Given the description of an element on the screen output the (x, y) to click on. 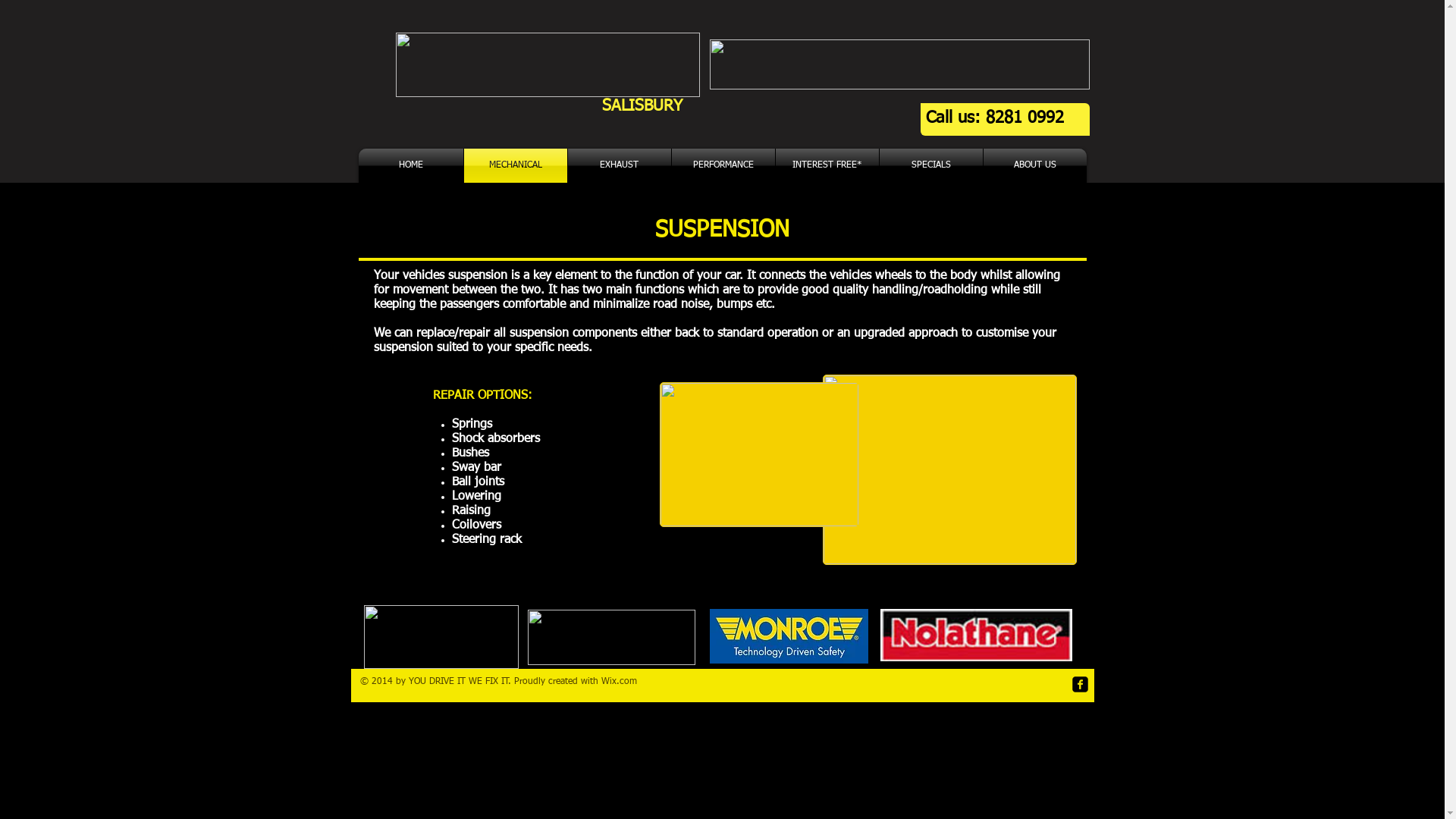
INTEREST FREE* Element type: text (826, 165)
W Element type: text (604, 681)
HOME Element type: text (409, 165)
ABOUT US Element type: text (1033, 165)
MECHANICAL Element type: text (515, 165)
ix.com Element type: text (623, 681)
PERFORMANCE Element type: text (723, 165)
SPECIALS Element type: text (930, 165)
EXHAUST Element type: text (618, 165)
